Given the description of an element on the screen output the (x, y) to click on. 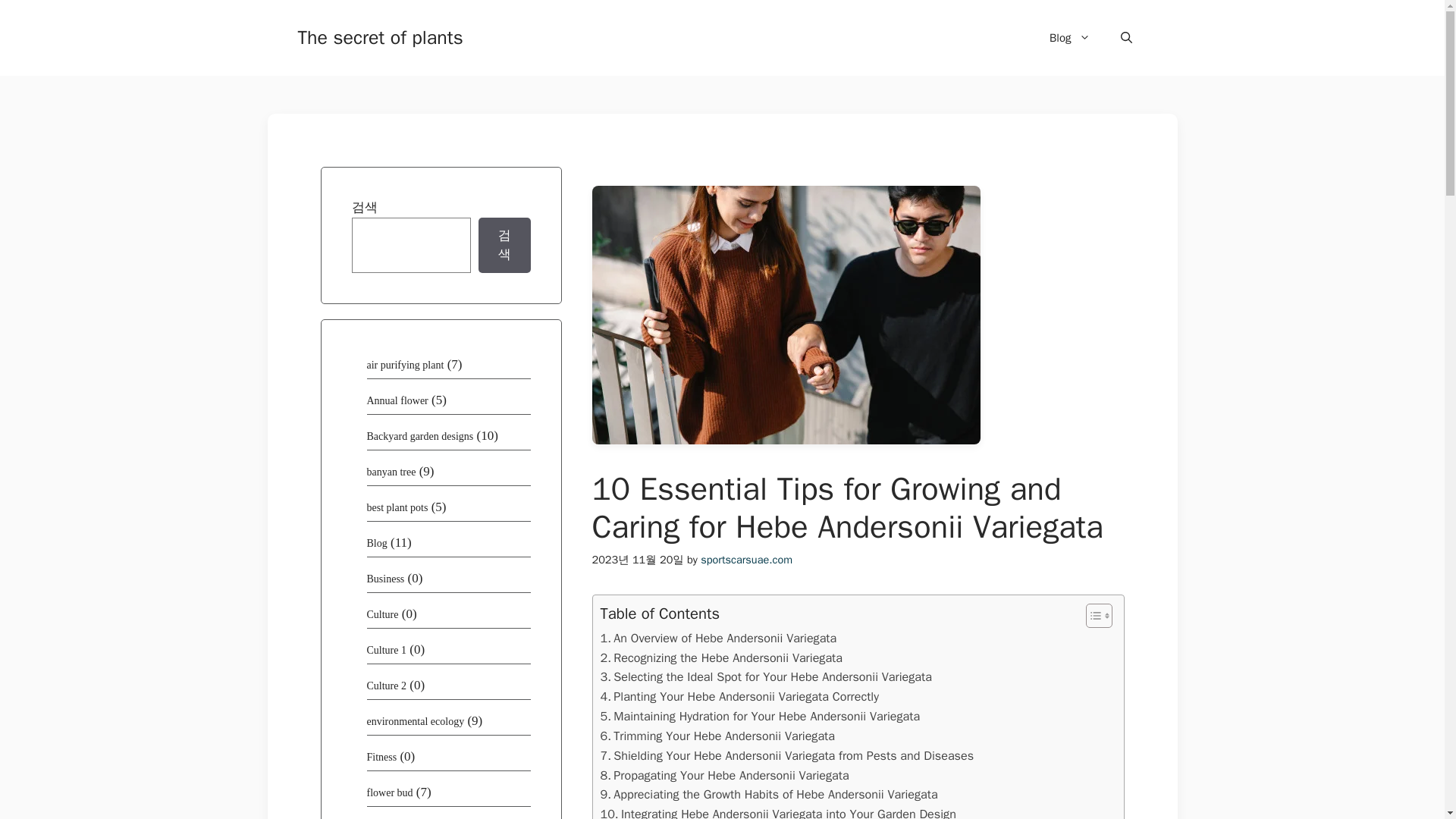
Trimming Your Hebe Andersonii Variegata (716, 736)
Planting Your Hebe Andersonii Variegata Correctly (739, 696)
Recognizing the Hebe Andersonii Variegata (721, 658)
Backyard garden designs (420, 436)
sportscarsuae.com (746, 559)
Blog (1069, 37)
The secret of plants (380, 37)
Planting Your Hebe Andersonii Variegata Correctly (739, 696)
Propagating Your Hebe Andersonii Variegata (723, 775)
